Given the description of an element on the screen output the (x, y) to click on. 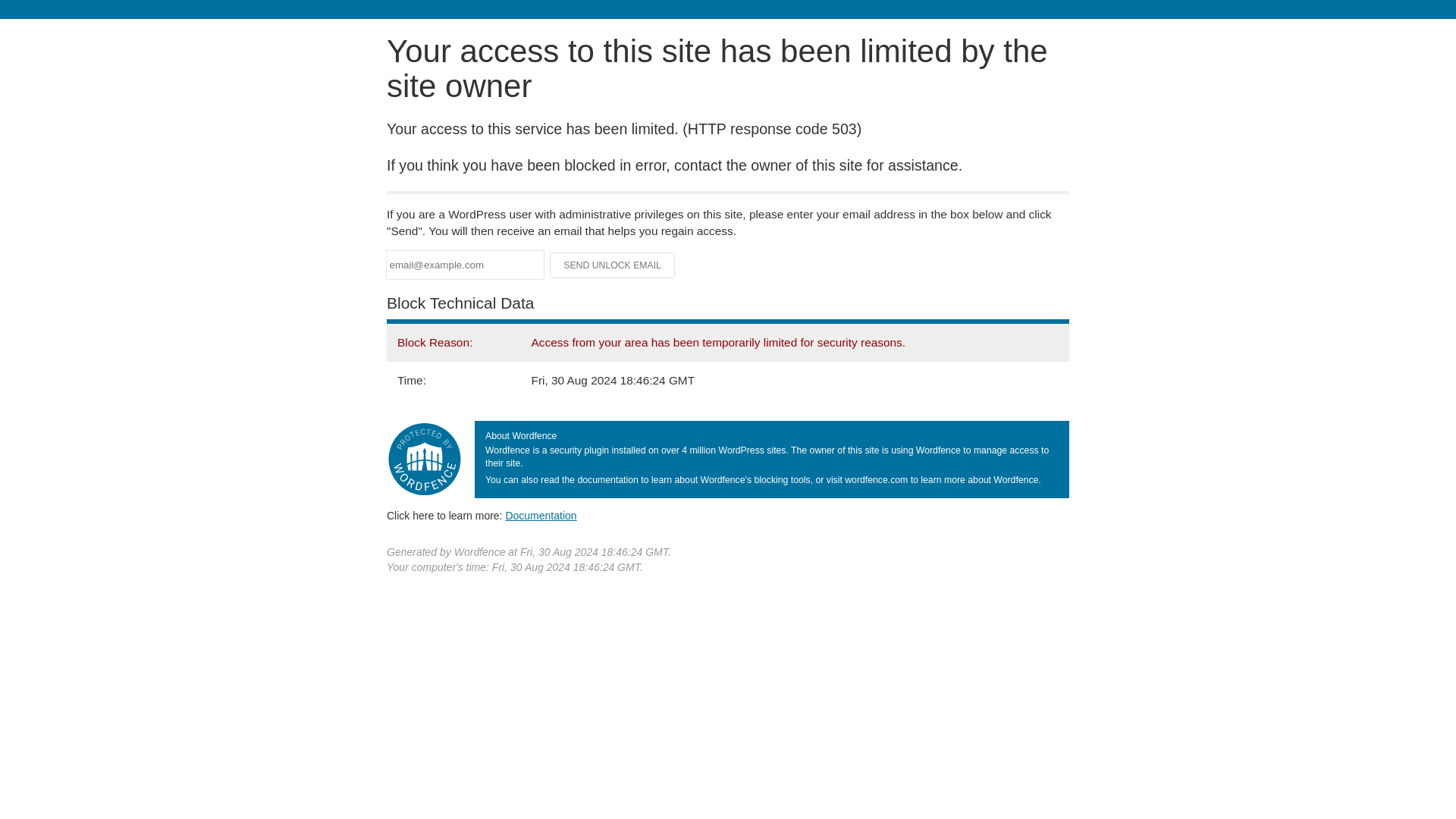
Send Unlock Email (612, 265)
Send Unlock Email (612, 265)
Documentation (540, 515)
